Given the description of an element on the screen output the (x, y) to click on. 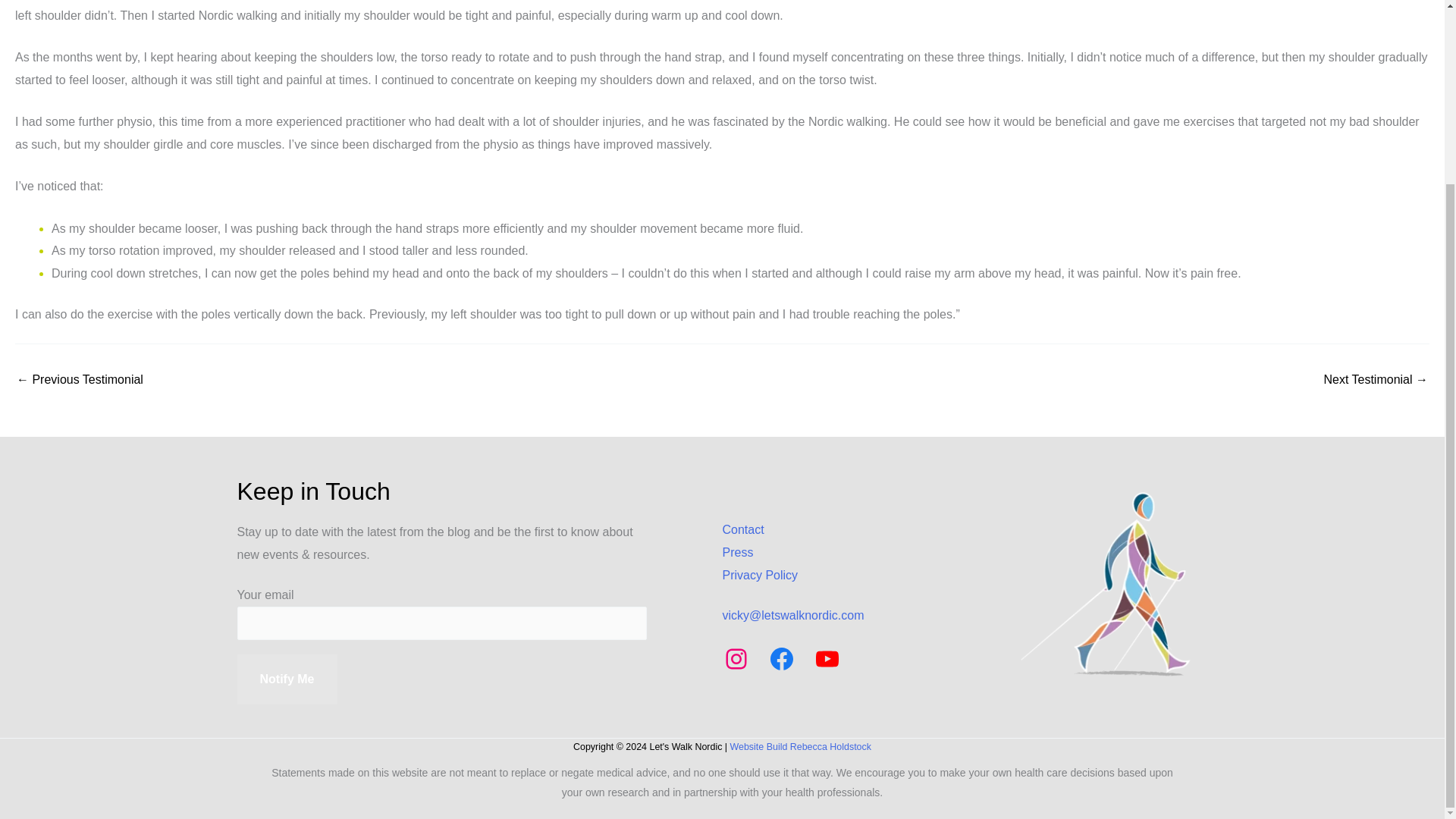
Notify Me (285, 679)
Facebook (780, 658)
Trish's Story (1375, 379)
Contact (742, 529)
Instagram (735, 658)
Privacy Policy (759, 574)
Notify Me (285, 679)
Press (737, 552)
Heather's Story (79, 379)
